Given the description of an element on the screen output the (x, y) to click on. 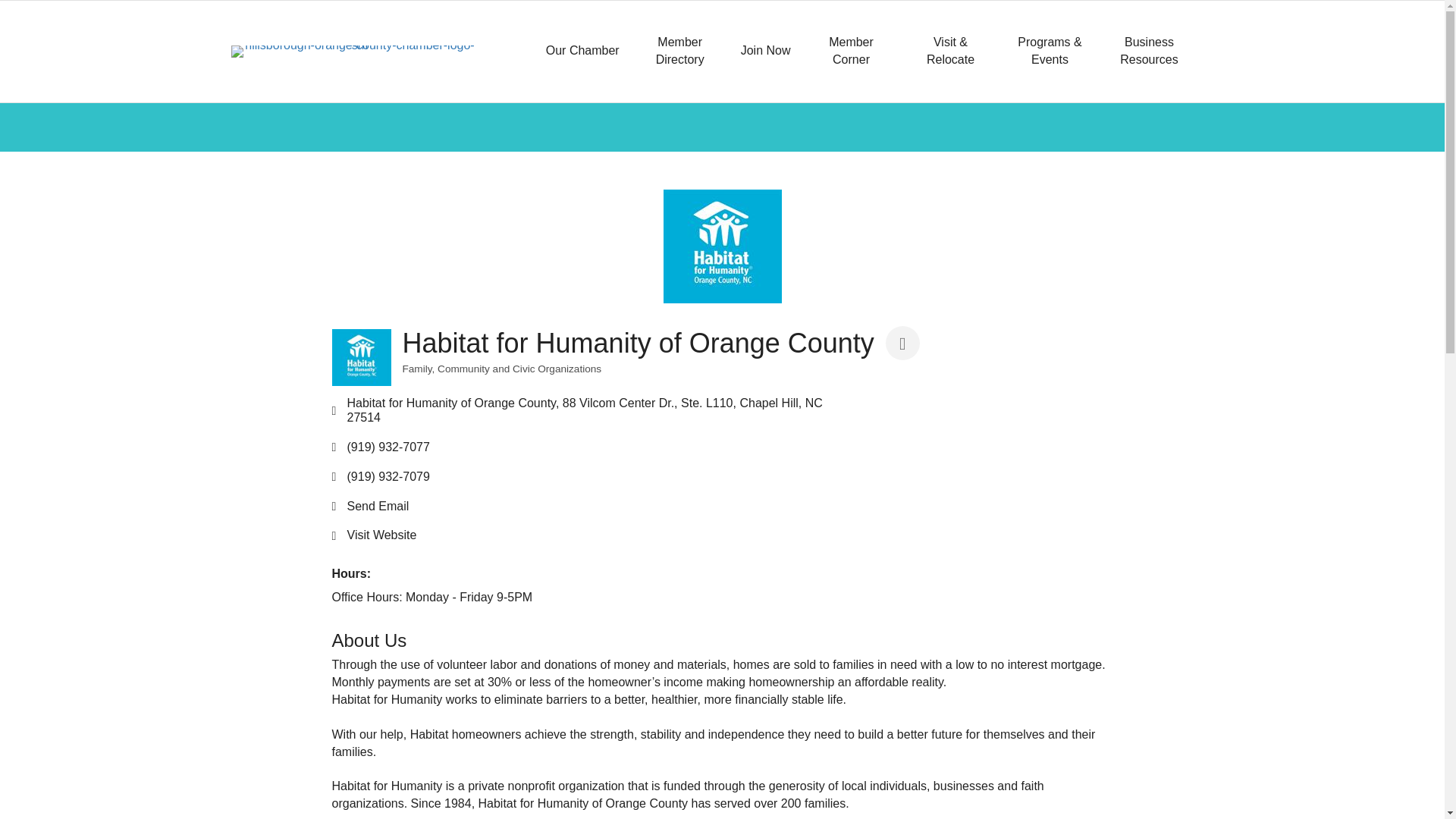
Business Resources (1148, 51)
Habitat for Humanity of Orange County (721, 246)
Join Now (766, 50)
Habitat for Humanity of Orange County (361, 357)
hillsborough-orange-county-chamber-logo-sm (353, 51)
Member Directory (679, 51)
Our Chamber (582, 50)
Member Corner (851, 51)
